Given the description of an element on the screen output the (x, y) to click on. 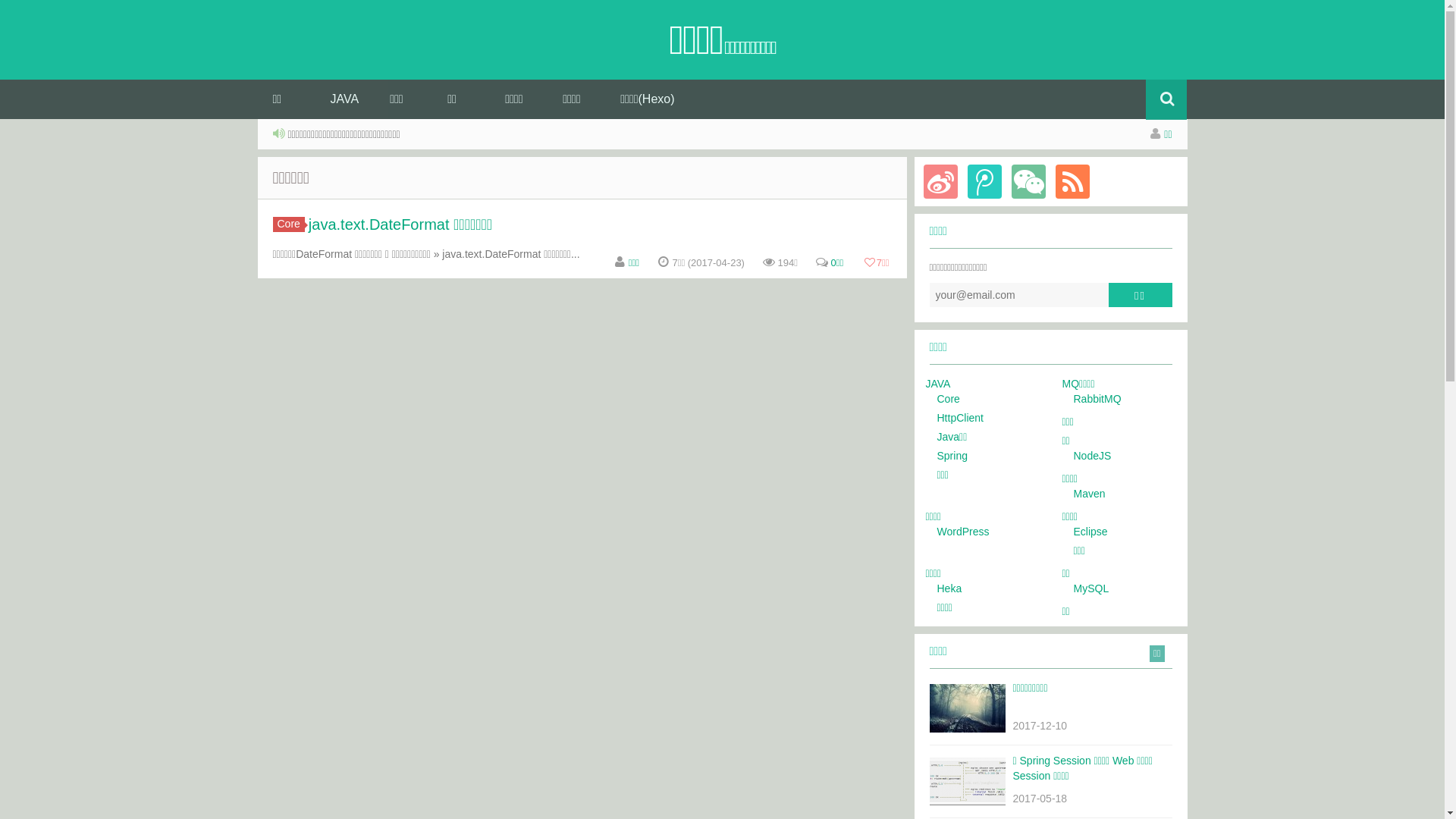
WordPress Element type: text (963, 531)
HttpClient Element type: text (960, 417)
Spring Element type: text (952, 455)
MySQL Element type: text (1091, 588)
Core Element type: text (288, 224)
NodeJS Element type: text (1092, 455)
Heka Element type: text (949, 588)
JAVA Element type: text (344, 99)
JAVA Element type: text (937, 383)
Maven Element type: text (1089, 493)
Core Element type: text (948, 398)
Eclipse Element type: text (1090, 531)
RabbitMQ Element type: text (1097, 398)
